Given the description of an element on the screen output the (x, y) to click on. 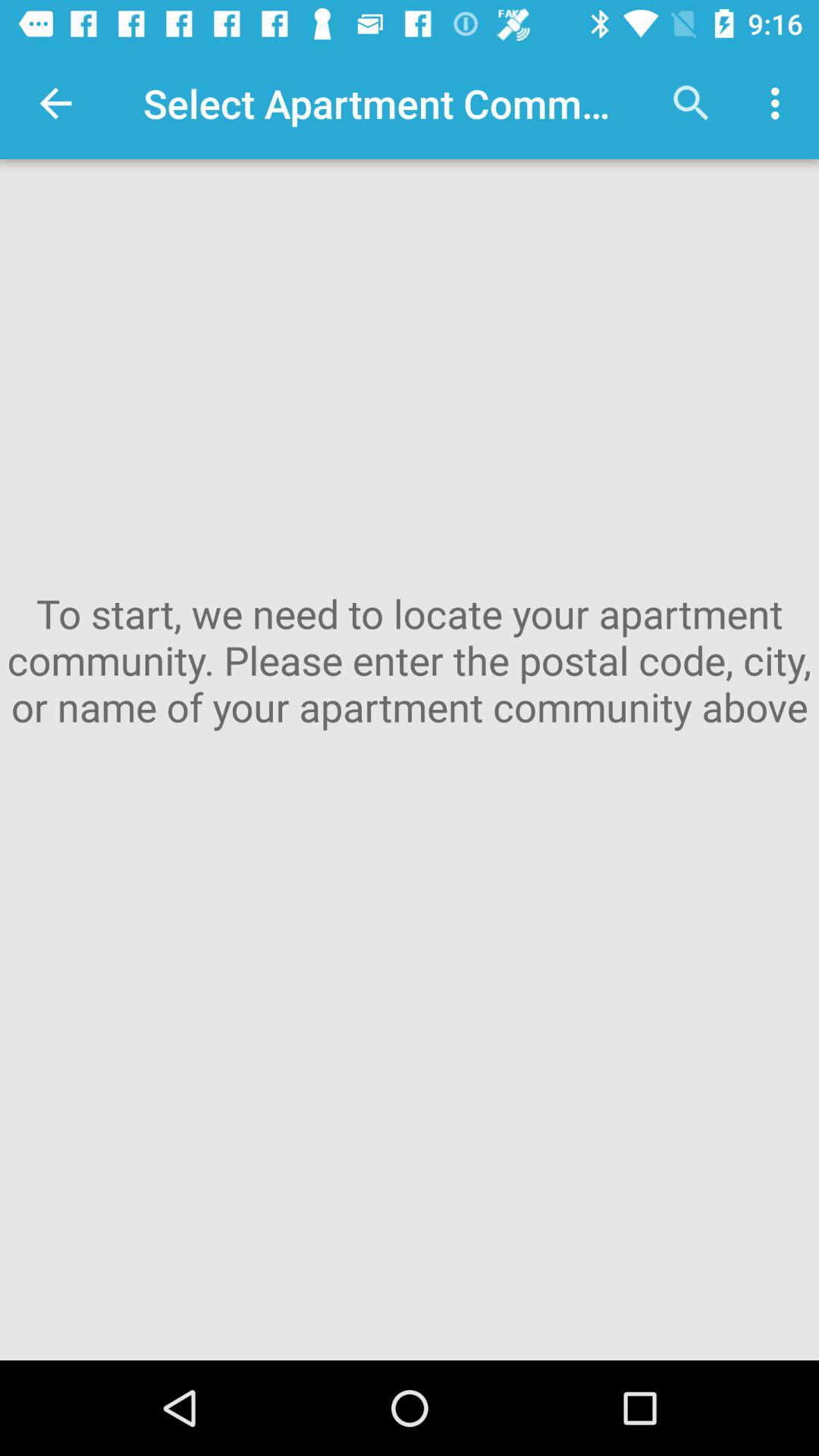
click the icon above to start we item (779, 103)
